Given the description of an element on the screen output the (x, y) to click on. 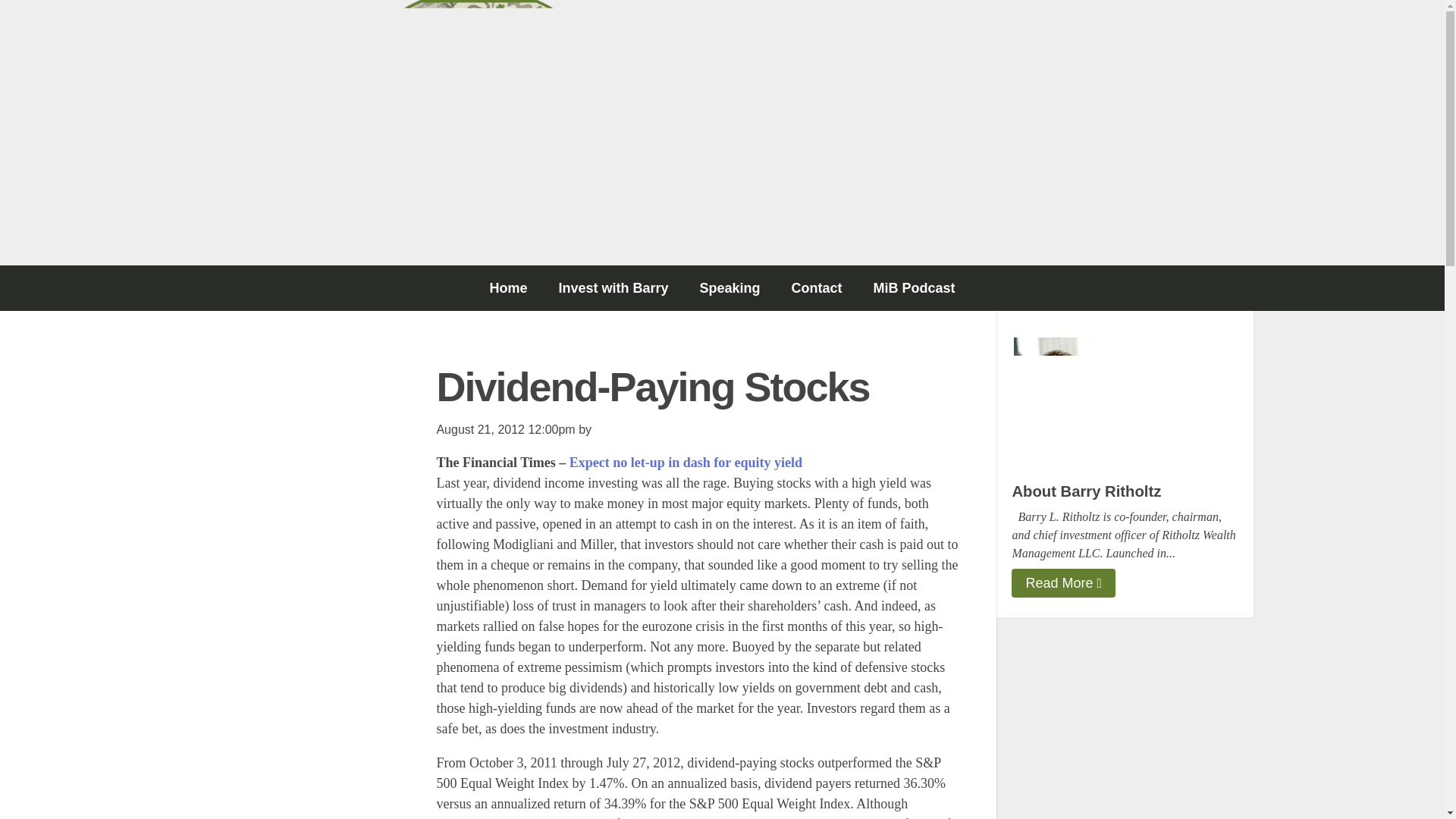
MiB Podcast (914, 288)
Home (508, 288)
Invest with Barry (612, 288)
Speaking (729, 288)
Expect no let-up in dash for equity yield (685, 462)
Read More (1063, 582)
Contact (816, 288)
